Given the description of an element on the screen output the (x, y) to click on. 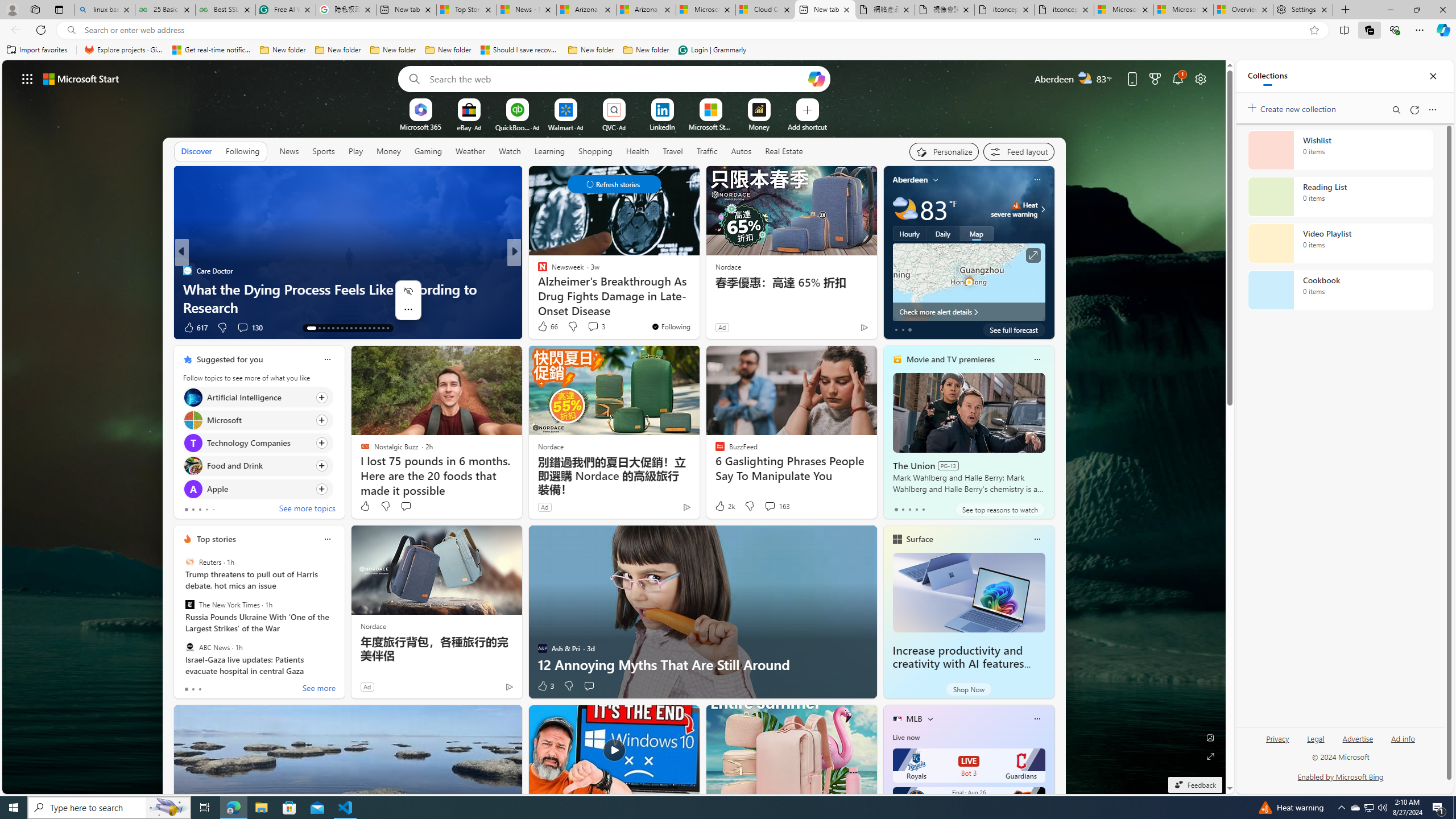
AutomationID: tab-14 (315, 328)
Hourly (909, 233)
Favorites bar (728, 49)
View comments 3 Comment (592, 326)
Network Products (697, 307)
Check more alert details (968, 311)
Mini menu on text selection (408, 307)
